Given the description of an element on the screen output the (x, y) to click on. 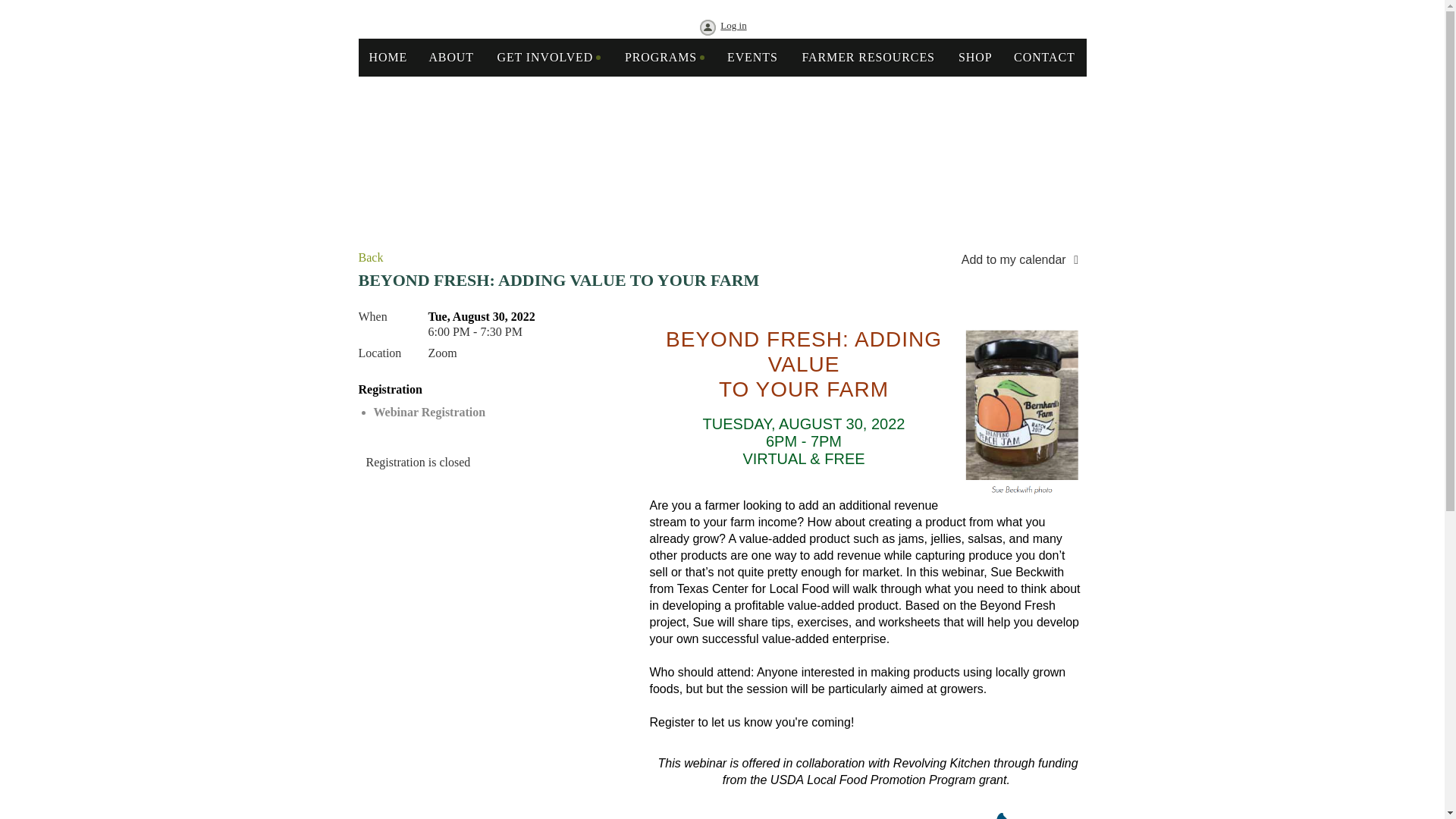
SHOP (975, 57)
HOME (387, 57)
CONTACT (1044, 57)
Get Involved (548, 57)
ABOUT (450, 57)
Farmer Resources (868, 57)
About (450, 57)
Log in (721, 28)
PROGRAMS (499, 412)
